Given the description of an element on the screen output the (x, y) to click on. 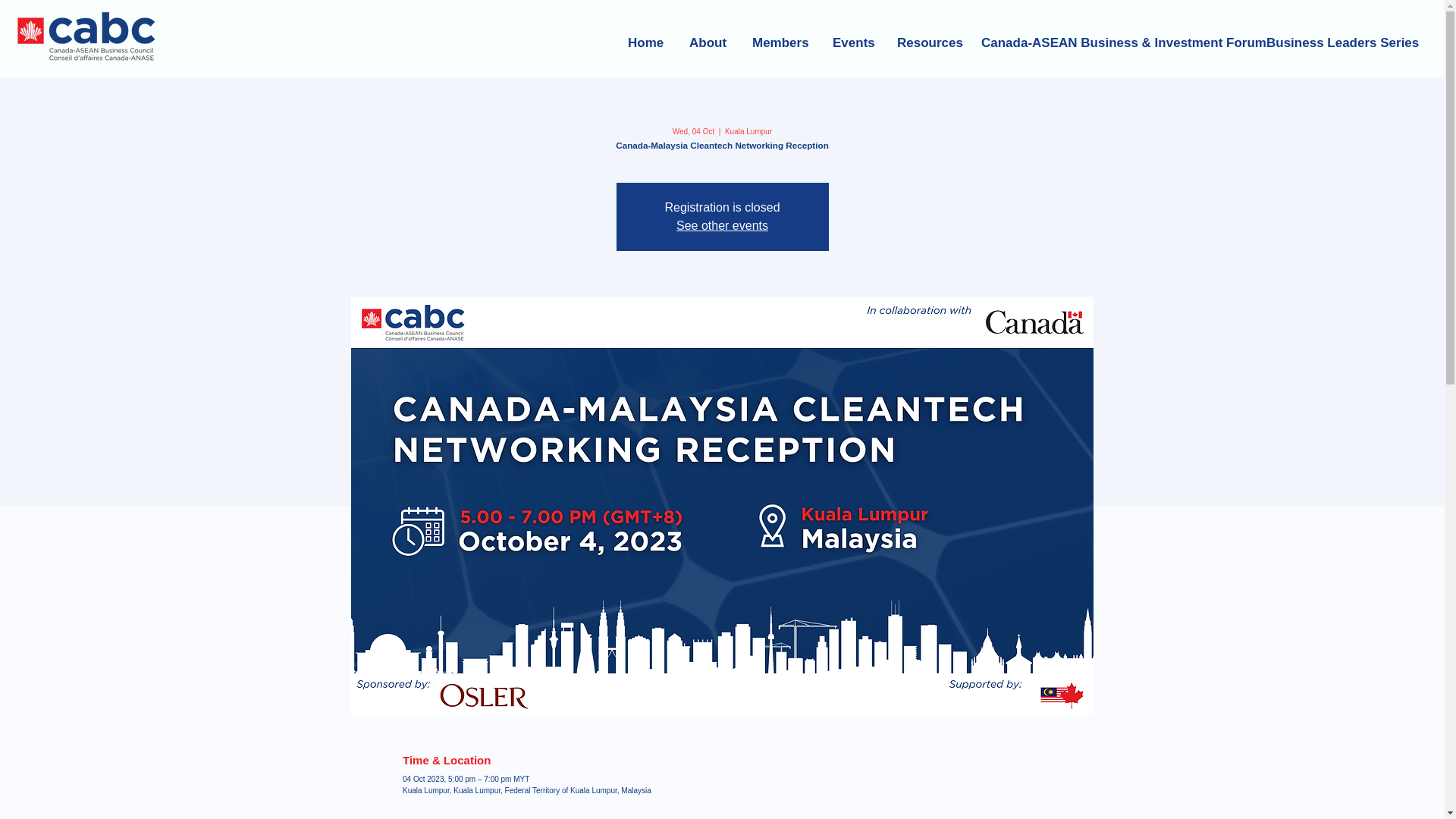
Events (850, 36)
Members (778, 36)
Resources (925, 36)
Business Leaders Series (1332, 36)
Home (644, 36)
See other events (722, 225)
About (706, 36)
